Given the description of an element on the screen output the (x, y) to click on. 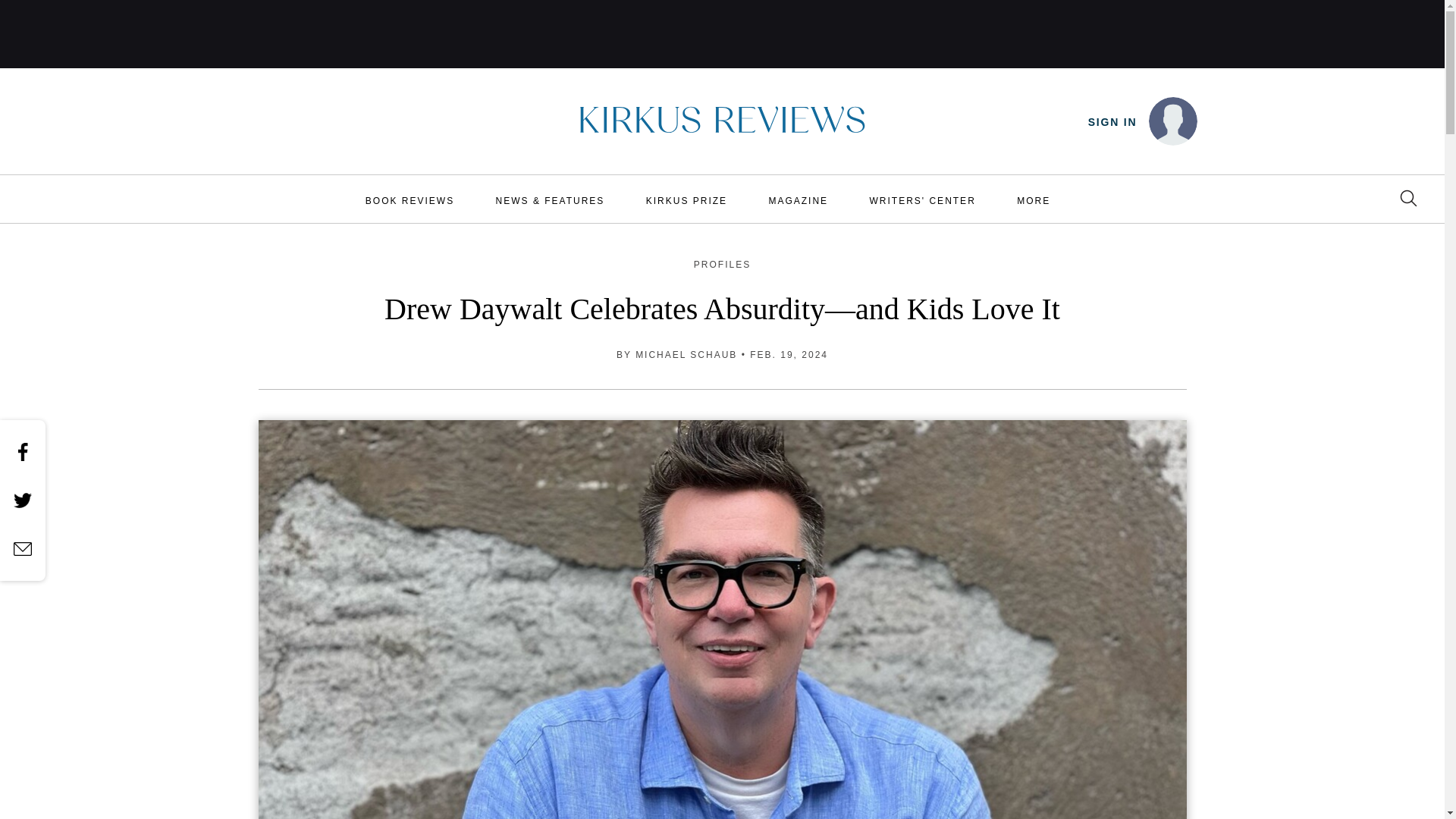
Share via Email (22, 548)
Share via Facebook (22, 452)
BOOK REVIEWS (410, 201)
3rd party ad content (722, 33)
Share via Twitter (22, 500)
SIGN IN (1111, 122)
